Given the description of an element on the screen output the (x, y) to click on. 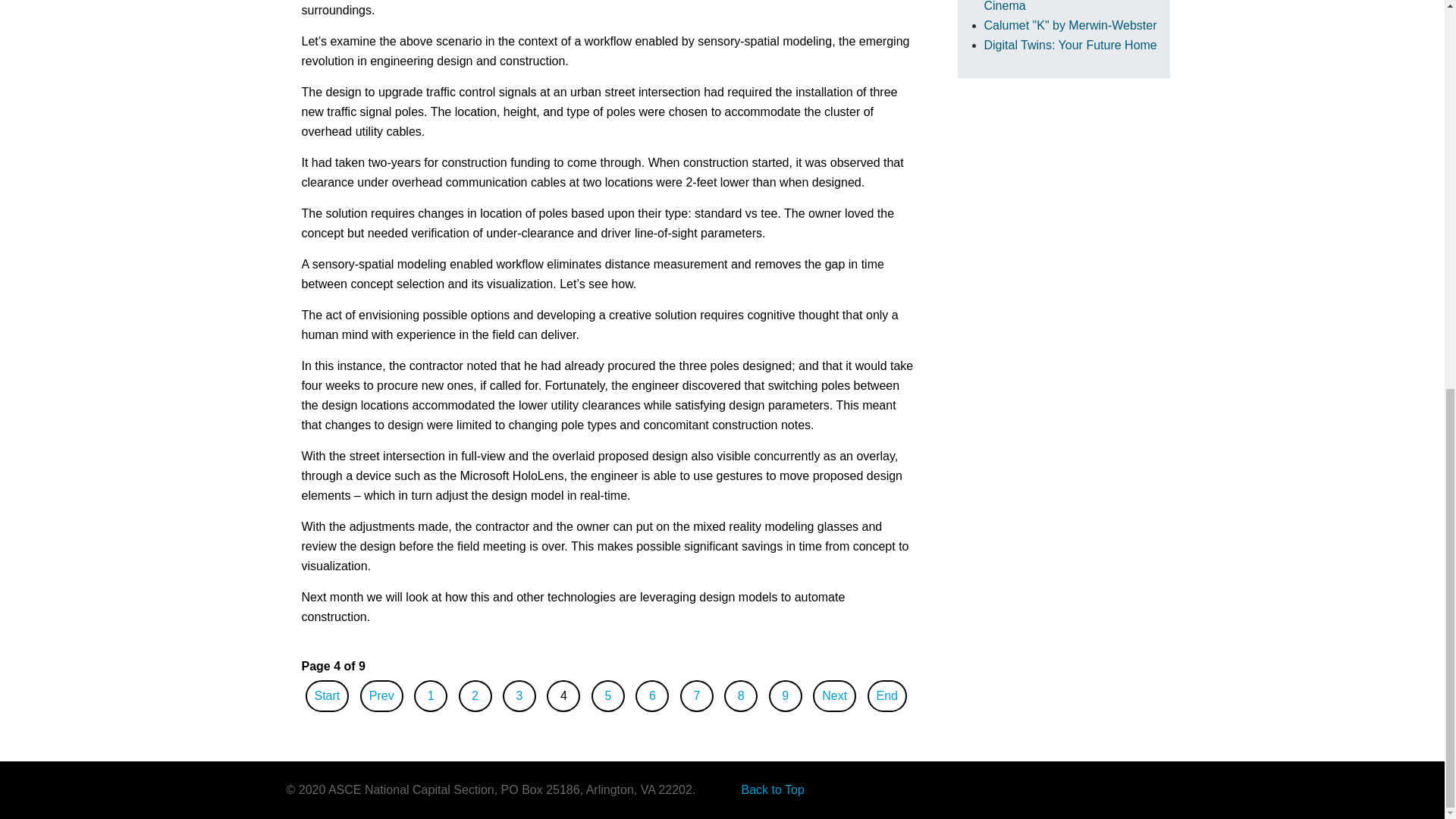
1 (430, 695)
6 (652, 695)
Start (327, 695)
2 (474, 695)
3 (519, 695)
5 (606, 695)
Prev (381, 695)
